Given the description of an element on the screen output the (x, y) to click on. 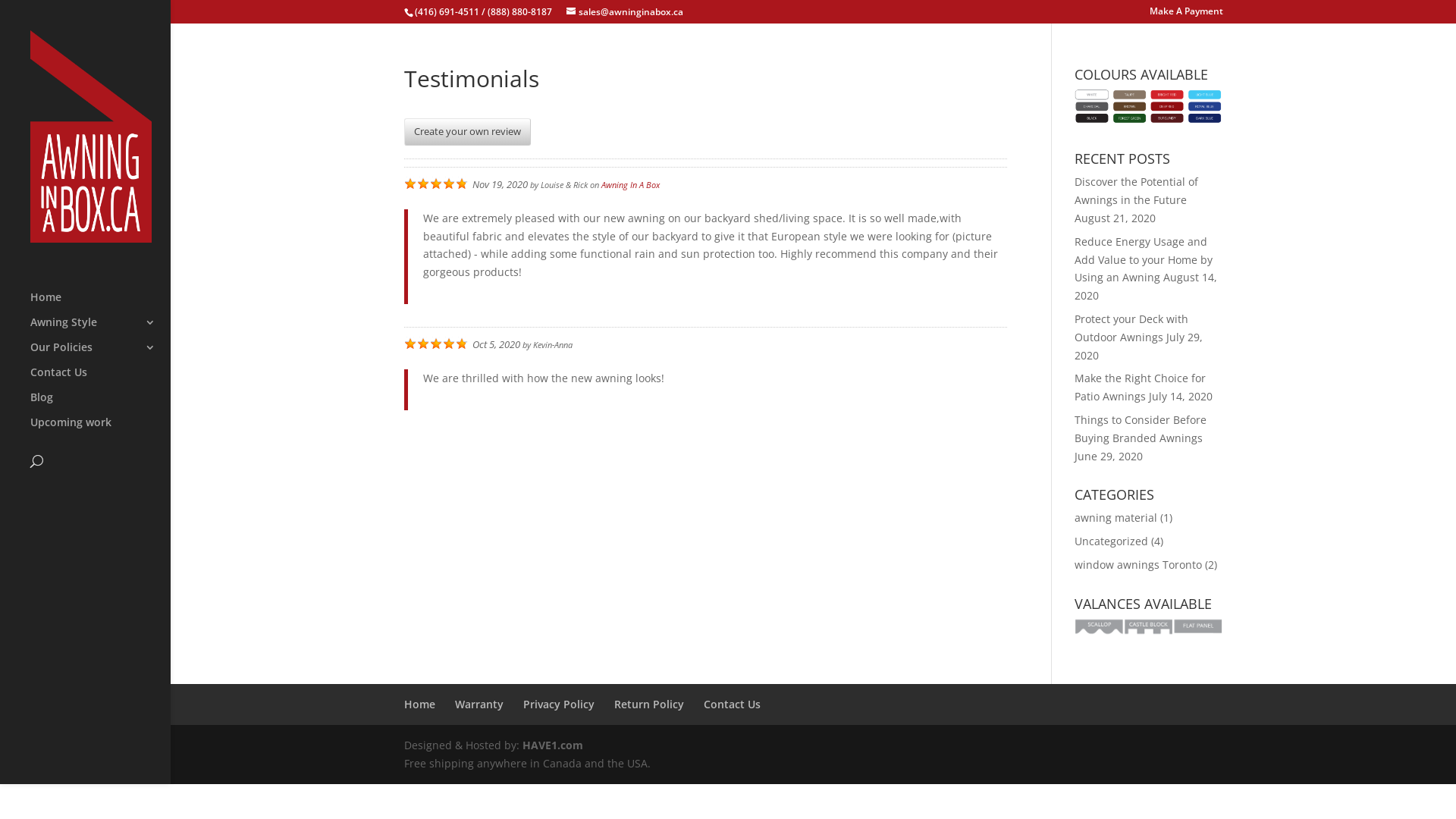
Our Policies Element type: text (100, 354)
awning material Element type: text (1115, 517)
Uncategorized Element type: text (1111, 540)
Blog Element type: text (100, 404)
Upcoming work Element type: text (100, 429)
Discover the Potential of Awnings in the Future Element type: text (1136, 190)
Home Element type: text (100, 303)
Make A Payment Element type: text (1186, 14)
Make the Right Choice for Patio Awnings Element type: text (1139, 386)
window awnings Toronto Element type: text (1137, 564)
HAVE1.com Element type: text (551, 744)
Awning Style Element type: text (100, 329)
Warranty Element type: text (479, 703)
Contact Us Element type: text (100, 379)
Home Element type: text (418, 703)
Things to Consider Before Buying Branded Awnings Element type: text (1140, 428)
(416) 691-4511 Element type: text (446, 11)
Return Policy Element type: text (649, 703)
Protect your Deck with Outdoor Awnings Element type: text (1131, 327)
(888) 880-8187 Element type: text (518, 11)
Privacy Policy Element type: text (558, 703)
Awning In A Box Element type: text (629, 184)
Contact Us Element type: text (731, 703)
sales@awninginabox.ca Element type: text (623, 11)
